Given the description of an element on the screen output the (x, y) to click on. 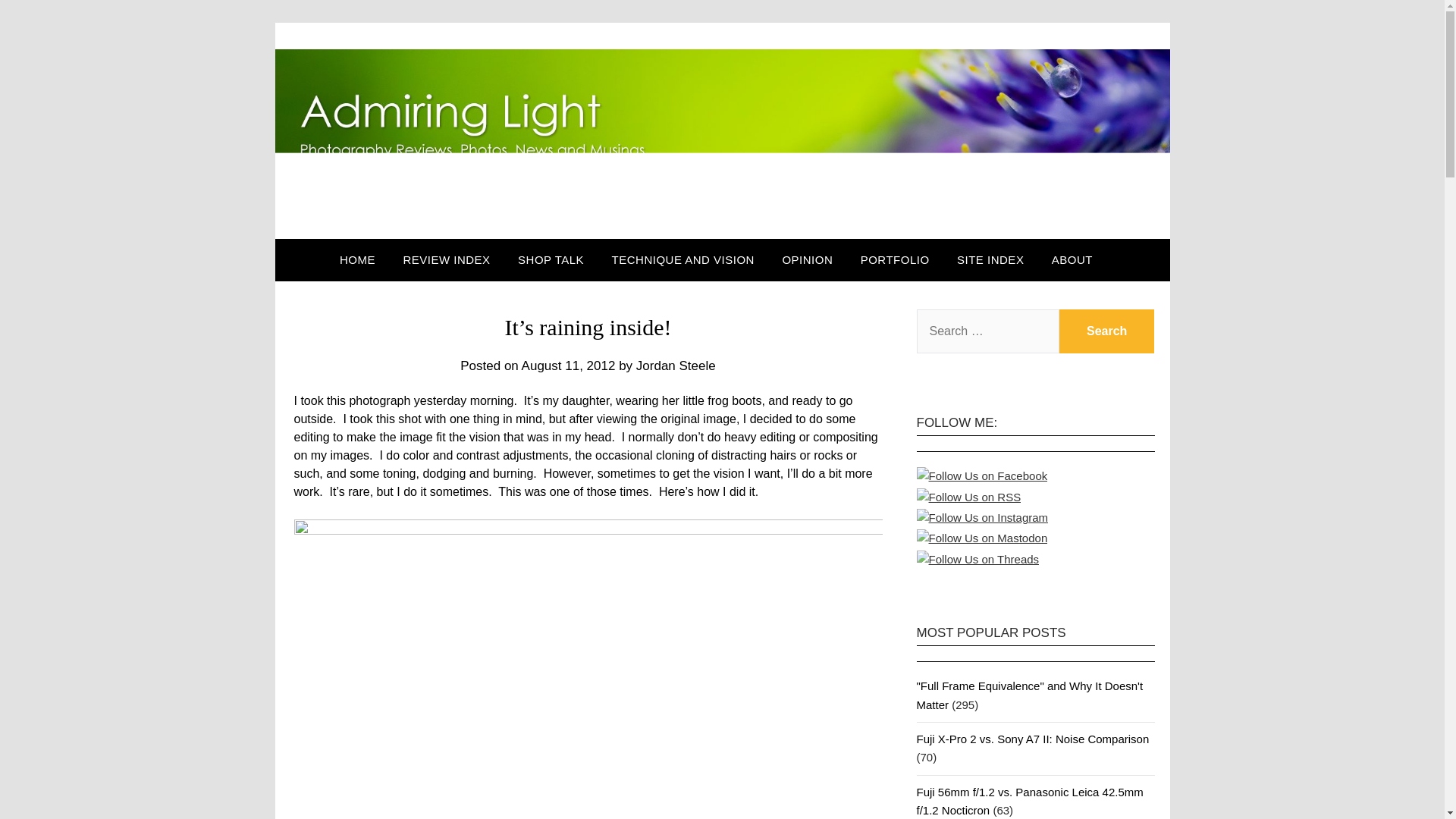
Follow Us on Facebook (980, 475)
Follow Us on Instagram (981, 517)
TECHNIQUE AND VISION (683, 259)
Follow Us on Threads (977, 559)
Fuji X-Pro 2 vs. Sony A7 II: Noise Comparison (1031, 738)
REVIEW INDEX (446, 259)
OPINION (807, 259)
Search (1106, 330)
PORTFOLIO (895, 259)
SHOP TALK (550, 259)
